Given the description of an element on the screen output the (x, y) to click on. 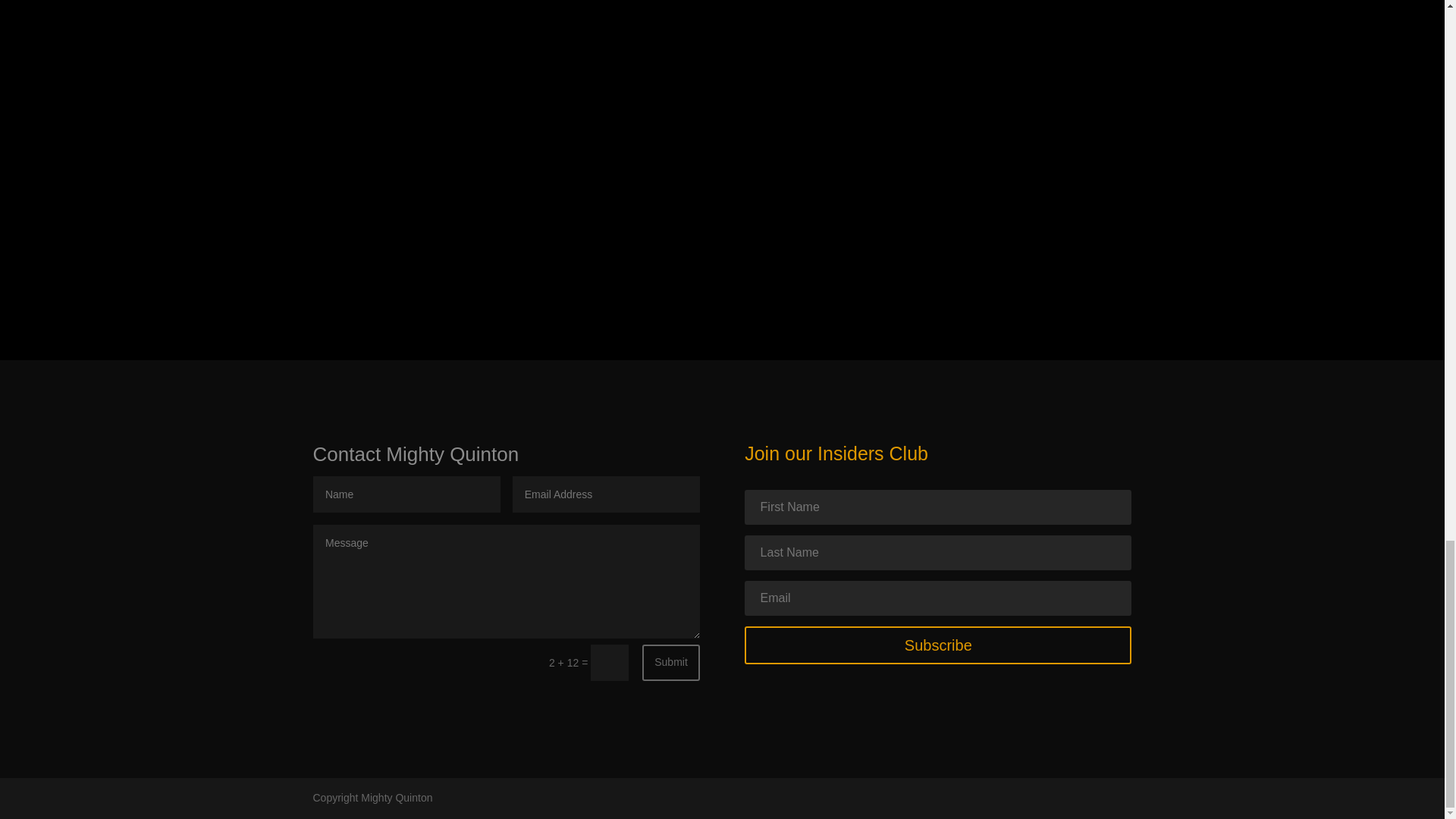
Subscribe (937, 645)
Submit (671, 662)
